Given the description of an element on the screen output the (x, y) to click on. 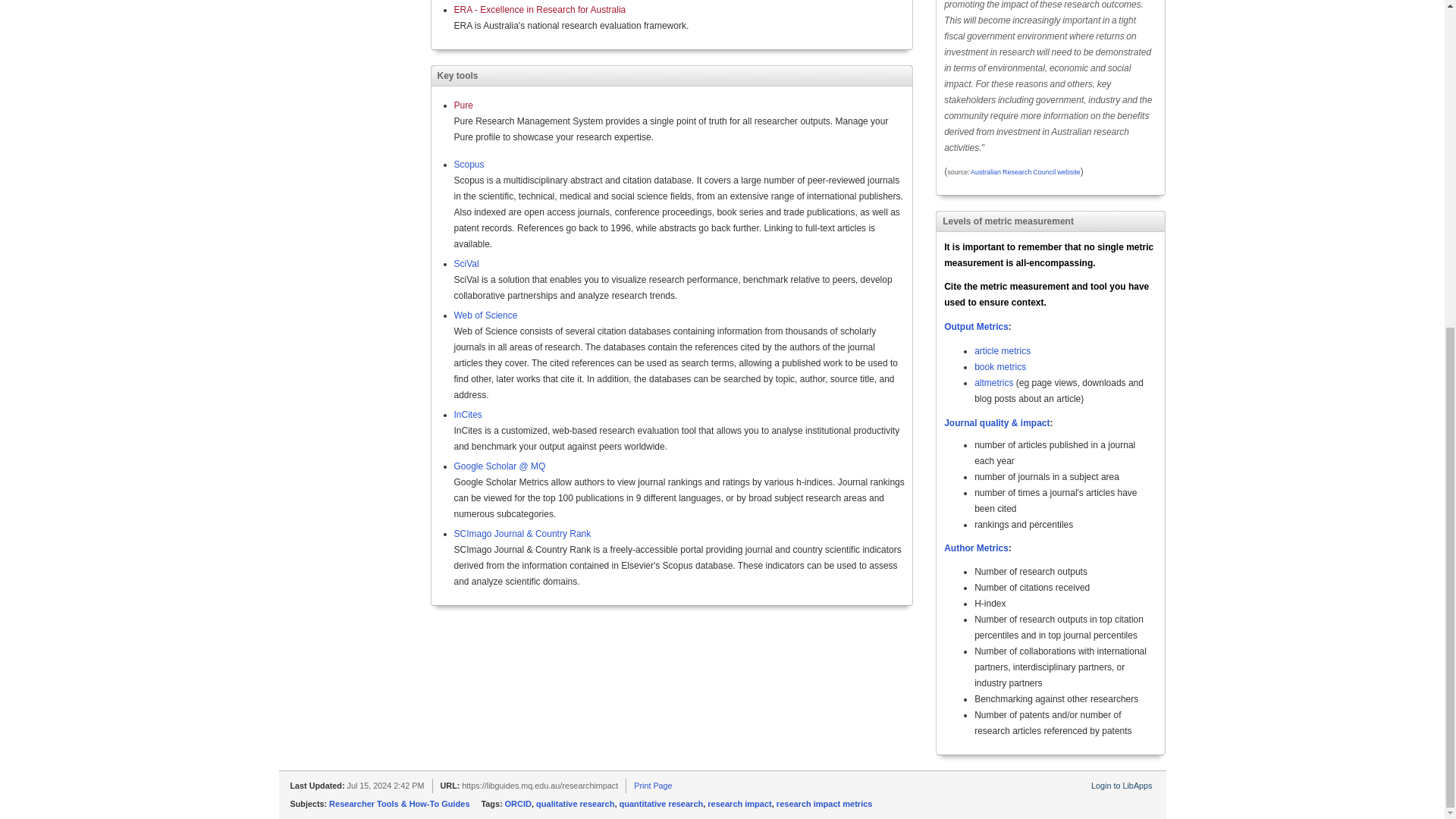
InCites (466, 414)
Output Metrics (976, 326)
Web of Science (484, 315)
SciVal (465, 263)
Australian Research Council website (1025, 172)
Pure (461, 104)
article metrics (1002, 350)
altmetrics (993, 382)
book metrics (1000, 366)
ERA - Excellence in Research for Australia (539, 9)
Scopus (467, 163)
